Given the description of an element on the screen output the (x, y) to click on. 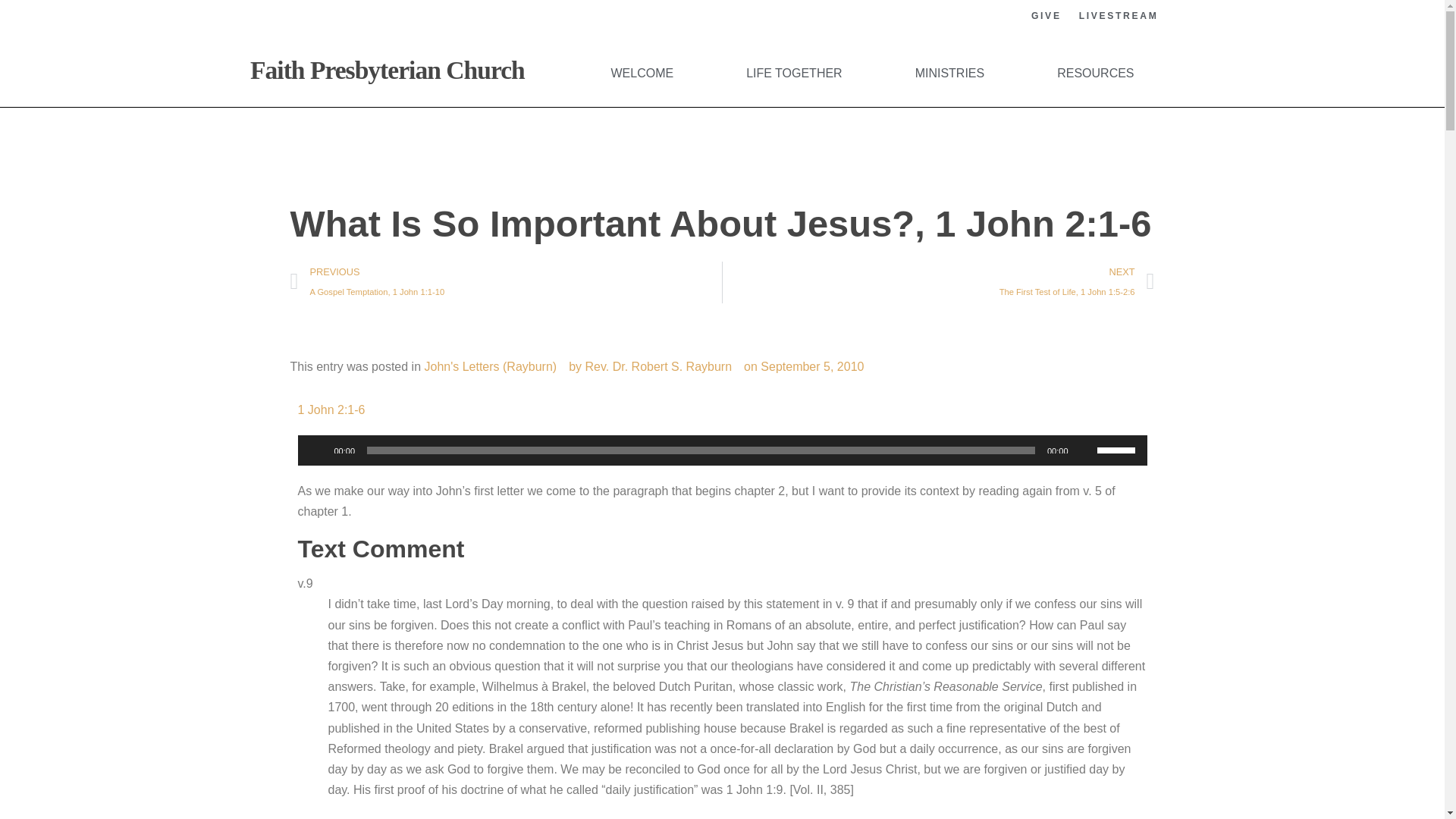
LIVESTREAM (1118, 15)
Mute (1084, 450)
LIFE TOGETHER (794, 73)
Play (316, 450)
GIVE (1045, 15)
WELCOME (641, 73)
Faith Presbyterian Church (387, 70)
RESOURCES (1095, 73)
MINISTRIES (948, 73)
